Given the description of an element on the screen output the (x, y) to click on. 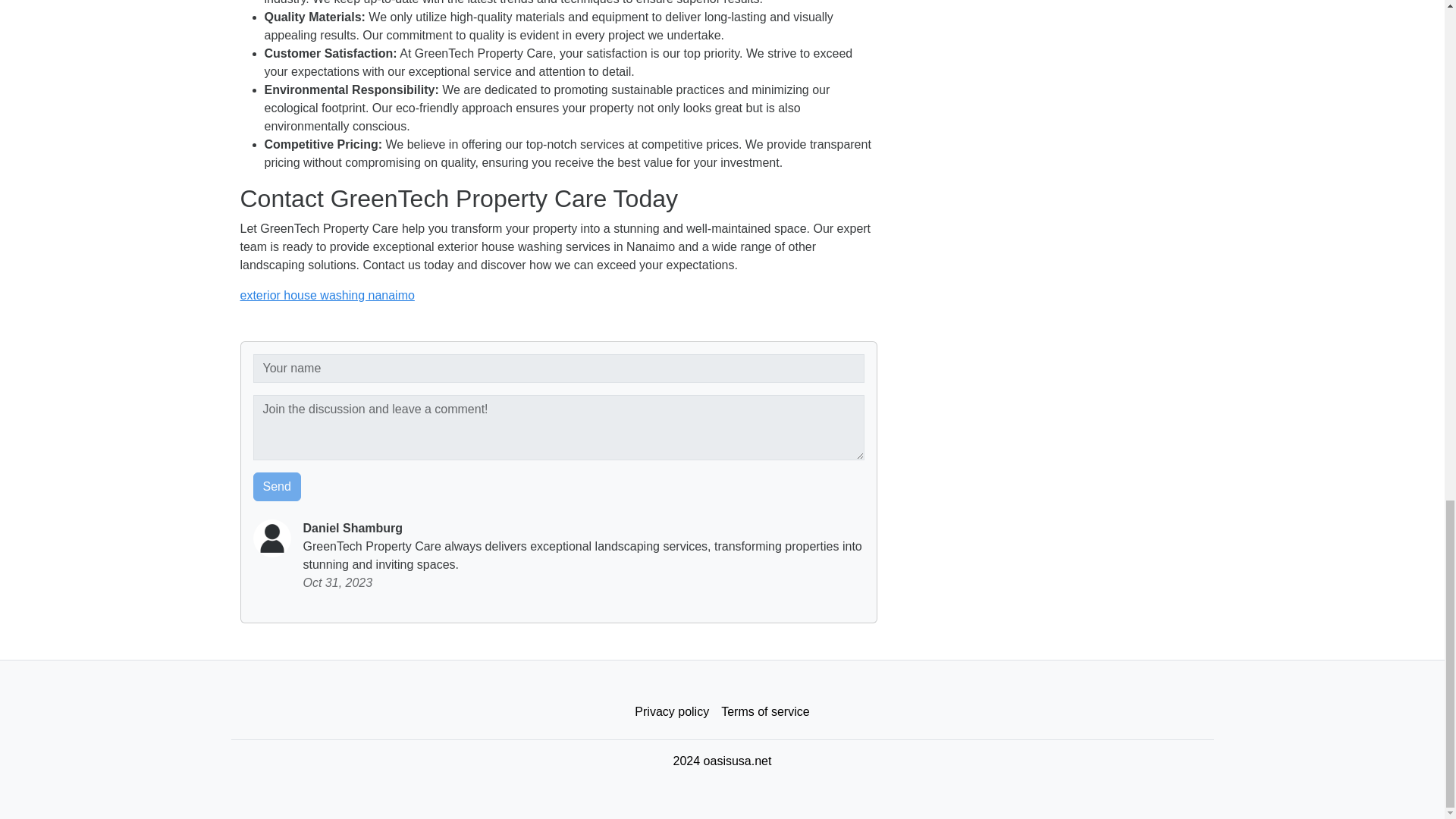
Send (277, 486)
exterior house washing nanaimo (326, 295)
Terms of service (764, 711)
Privacy policy (671, 711)
Send (277, 486)
